Given the description of an element on the screen output the (x, y) to click on. 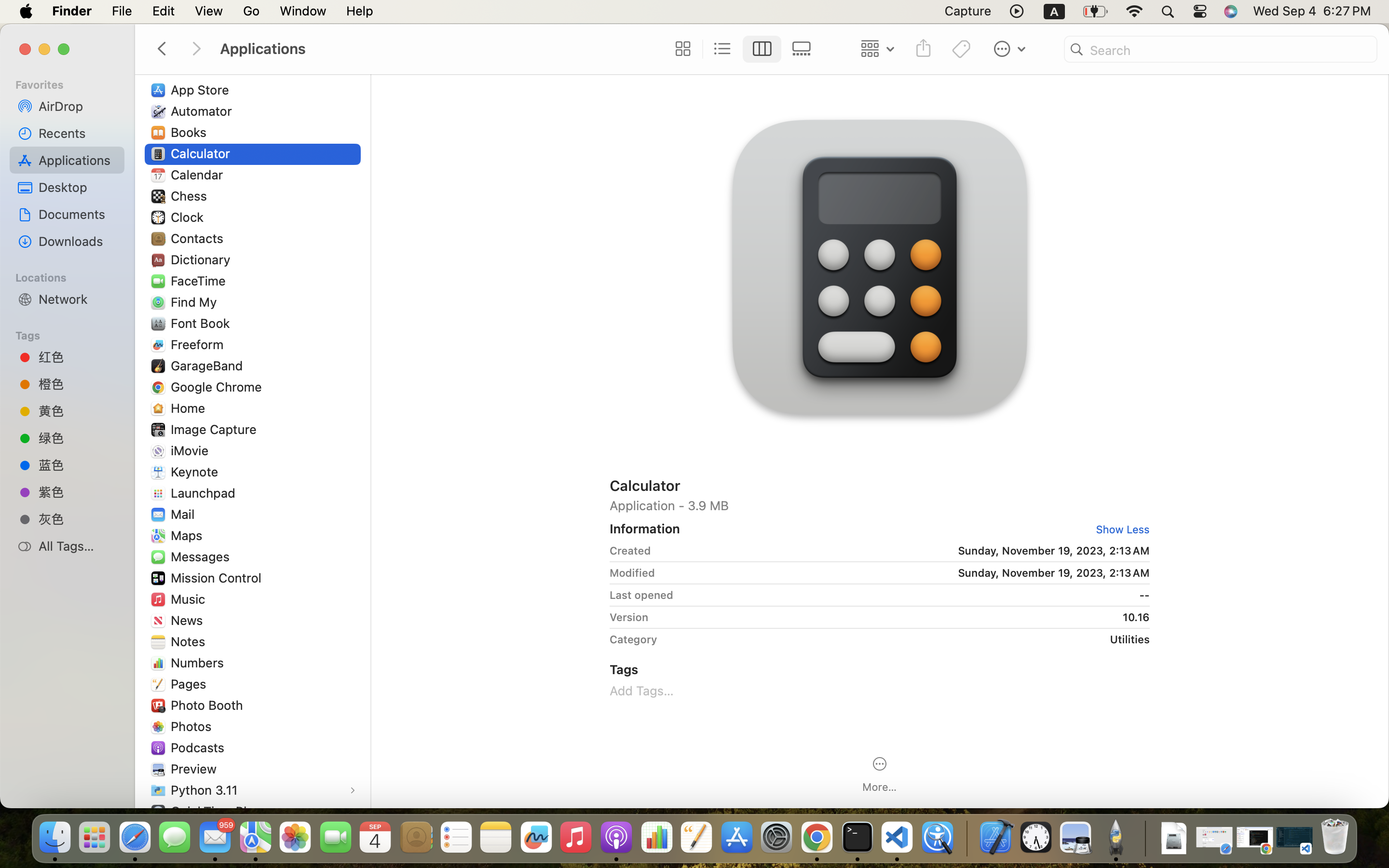
All Tags… Element type: AXStaticText (77, 545)
1 Element type: AXRadioButton (762, 48)
Calculator Element type: AXTextField (202, 153)
iMovie Element type: AXTextField (191, 450)
News Element type: AXTextField (188, 619)
